Given the description of an element on the screen output the (x, y) to click on. 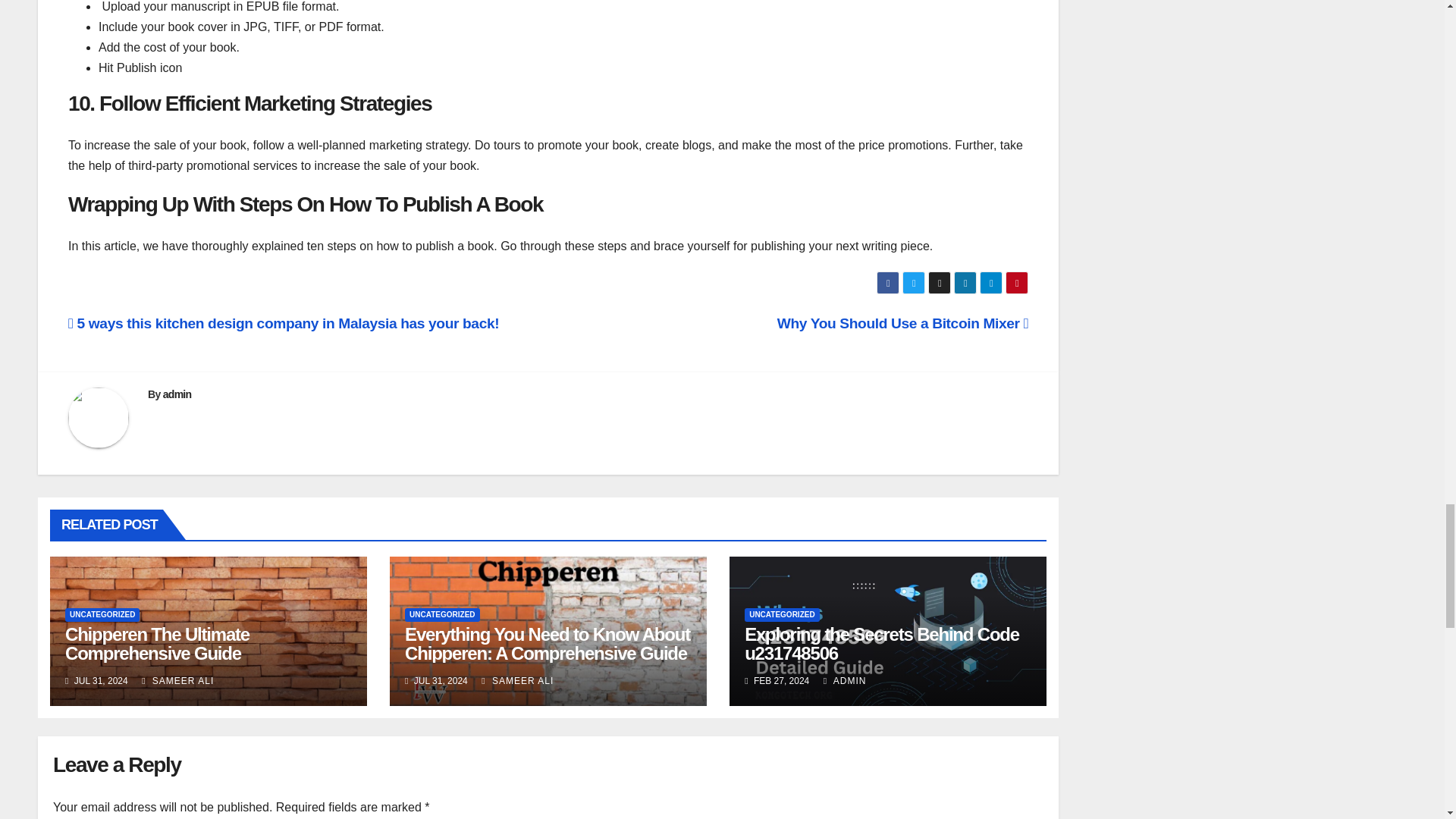
admin (177, 394)
Permalink to: Exploring the Secrets Behind Code u231748506 (881, 643)
Permalink to: Chipperen The Ultimate Comprehensive Guide (156, 643)
Why You Should Use a Bitcoin Mixer (903, 323)
SAMEER ALI (177, 680)
UNCATEGORIZED (441, 614)
UNCATEGORIZED (102, 614)
